Given the description of an element on the screen output the (x, y) to click on. 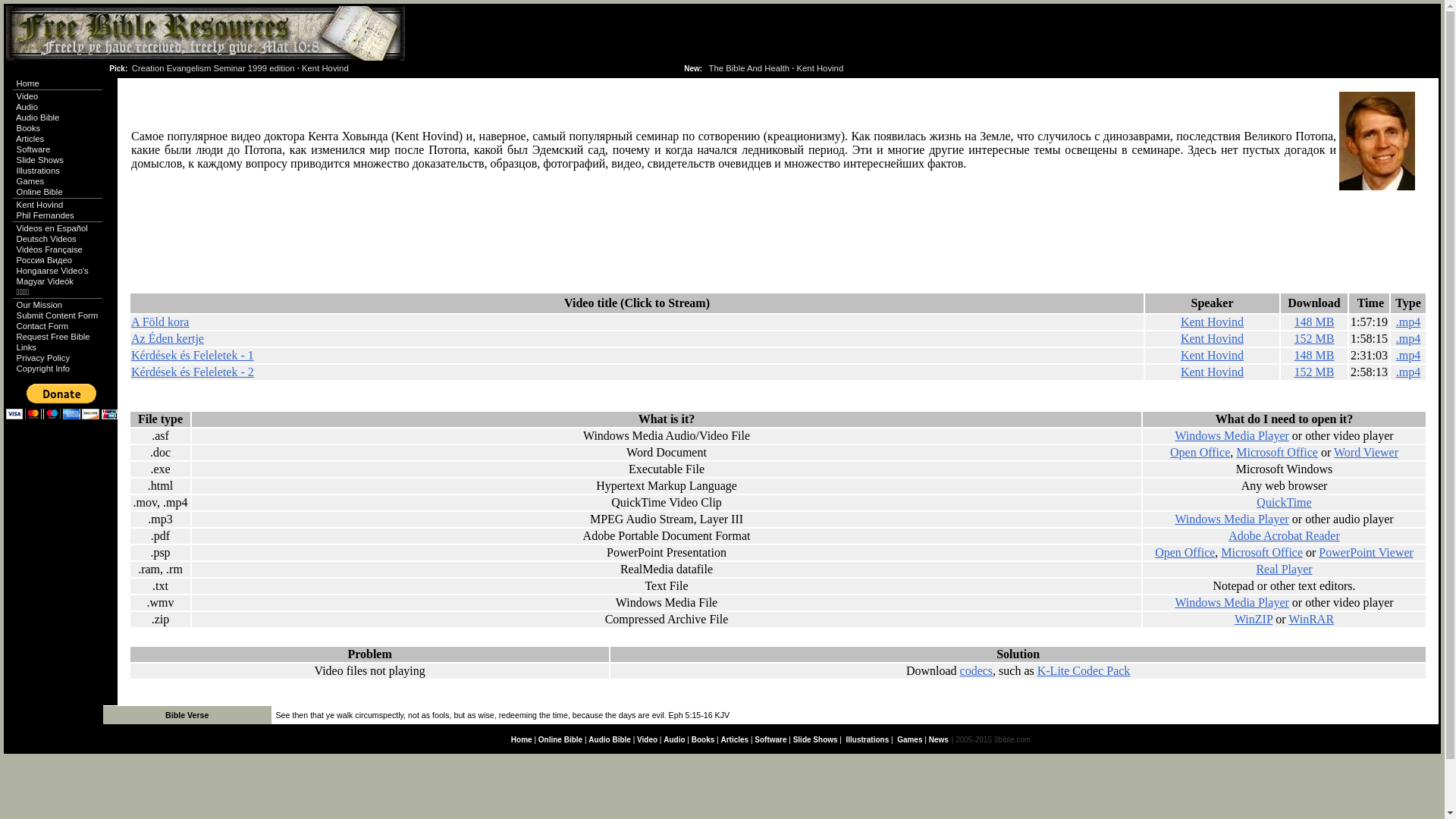
Home Element type: text (521, 739)
Copyright Info Element type: text (43, 368)
Kent Hovind Element type: text (1211, 321)
PowerPoint Viewer Element type: text (1365, 552)
Illustrations Element type: text (37, 170)
Kent Hovind Element type: text (1211, 338)
152 MB Element type: text (1314, 371)
Slide Shows Element type: text (39, 159)
Illustrations Element type: text (867, 739)
Deutsch Videos Element type: text (46, 238)
Slide Shows Element type: text (815, 739)
148 MB Element type: text (1314, 354)
Books Element type: text (703, 739)
Audio Bible Element type: text (37, 117)
Phil Fernandes Element type: text (45, 214)
Kent Hovind Element type: text (39, 204)
Word Viewer Element type: text (1365, 451)
Software Element type: text (33, 148)
Hongaarse Video's Element type: text (52, 270)
Submit Content Form Element type: text (57, 315)
Home Element type: text (27, 82)
Online Bible Element type: text (560, 739)
Microsoft Office Element type: text (1276, 451)
Windows Media Player Element type: text (1231, 518)
K-Lite Codec Pack Element type: text (1083, 670)
Audio Element type: text (26, 106)
News Element type: text (938, 739)
Windows Media Player Element type: text (1231, 435)
Windows Media Player Element type: text (1231, 602)
Software Element type: text (770, 739)
Kent Hovind Element type: text (1211, 354)
Advertisement Element type: hover (404, 257)
Real Player Element type: text (1283, 568)
Articles Element type: text (734, 739)
WinRAR Element type: text (1310, 618)
Adobe Acrobat Reader Element type: text (1283, 535)
Contact Form Element type: text (42, 325)
WinZIP Element type: text (1253, 618)
148 MB Element type: text (1314, 321)
Links Element type: text (26, 346)
Microsoft Office Element type: text (1261, 552)
Kent Hovind Element type: text (1211, 371)
codecs Element type: text (976, 670)
Online Bible Element type: text (39, 191)
Advertisement Element type: hover (308, 389)
Games Element type: text (909, 739)
Games Element type: text (30, 180)
Articles Element type: text (29, 138)
File type Element type: text (160, 418)
QuickTime Element type: text (1283, 501)
Books Element type: text (28, 127)
Privacy Policy Element type: text (43, 357)
Open Office Element type: text (1184, 552)
.mp4 Element type: text (1408, 338)
Open Office Element type: text (1200, 451)
Audio Element type: text (673, 739)
.mp4 Element type: text (1408, 354)
Request Free Bible Element type: text (53, 336)
Our Mission Element type: text (39, 304)
.mp4 Element type: text (1408, 371)
152 MB Element type: text (1314, 338)
Video Element type: text (27, 95)
Video Element type: text (647, 739)
Audio Bible Element type: text (609, 739)
.mp4 Element type: text (1408, 321)
